Given the description of an element on the screen output the (x, y) to click on. 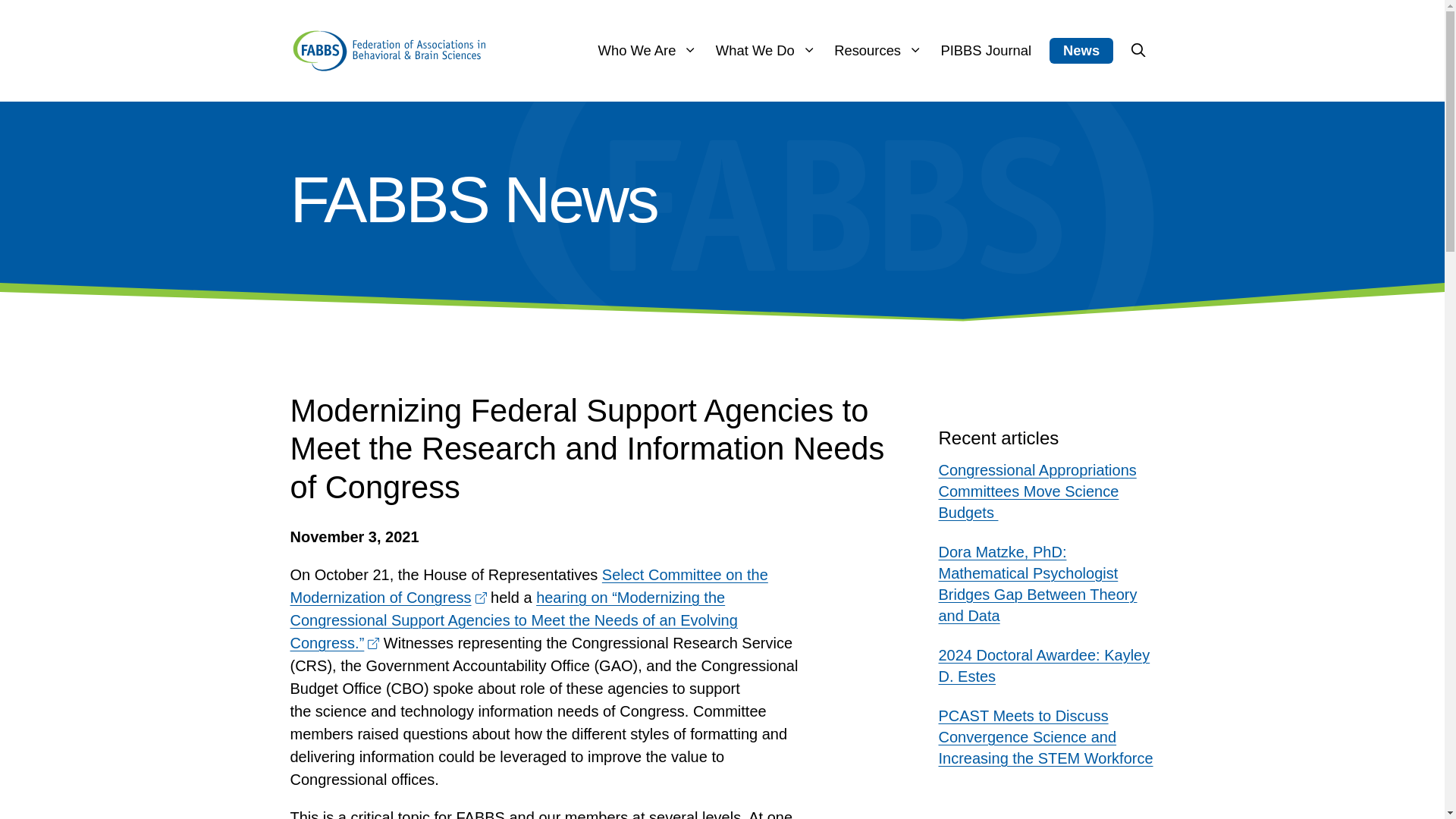
Resources (878, 50)
What We Do (765, 50)
Who We Are (647, 50)
